Given the description of an element on the screen output the (x, y) to click on. 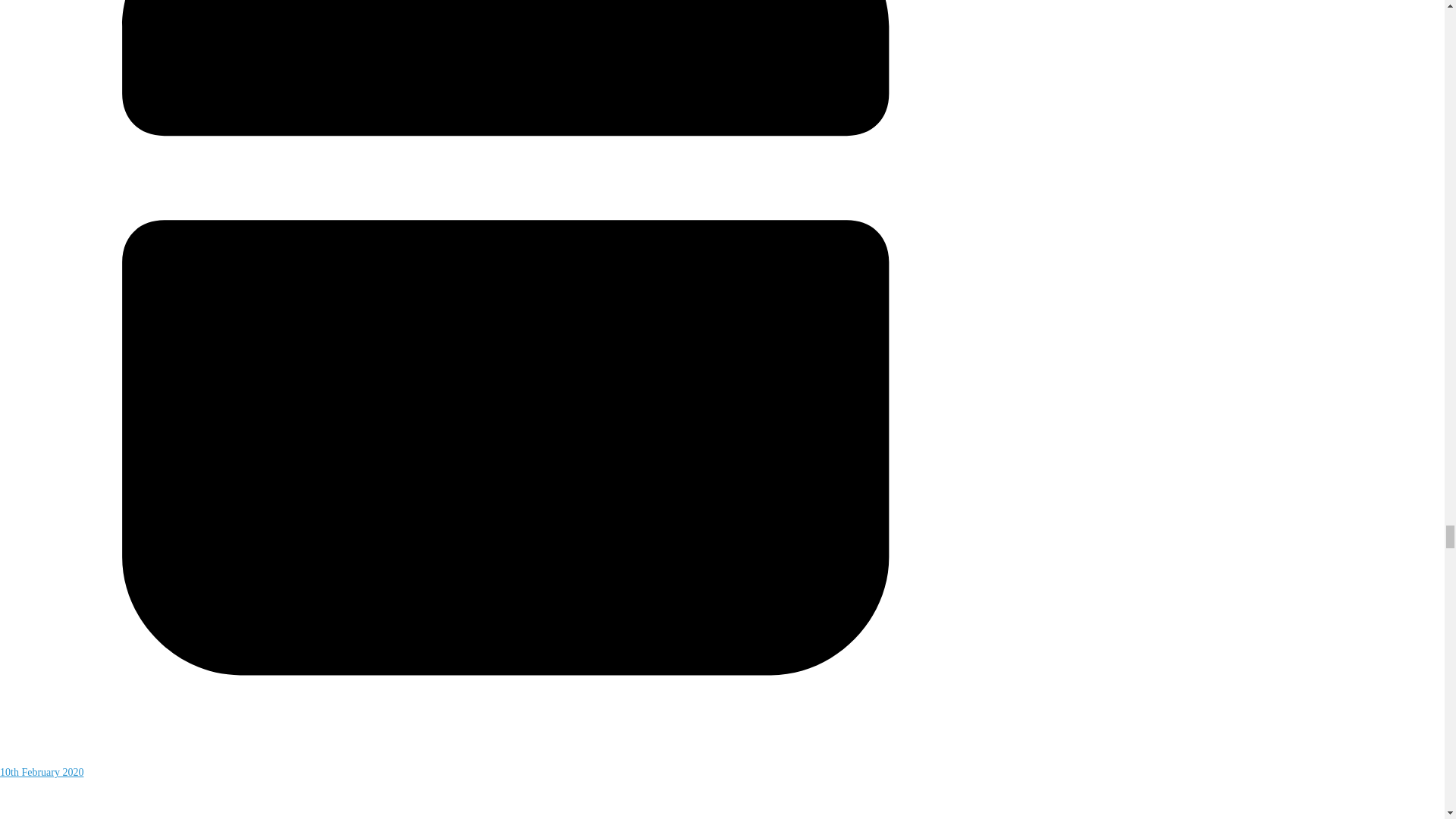
17:28 (505, 764)
